Given the description of an element on the screen output the (x, y) to click on. 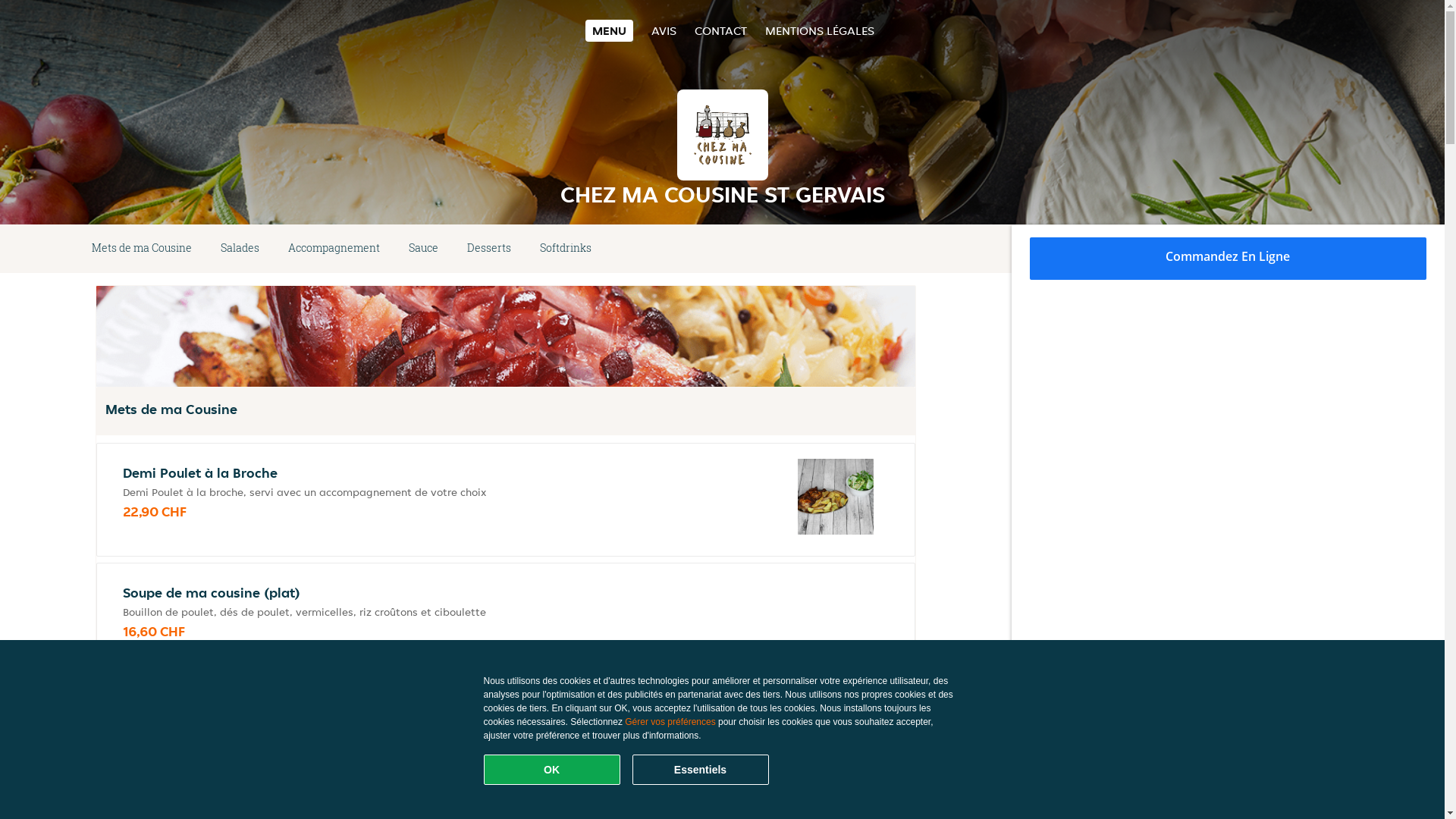
Essentiels Element type: text (700, 769)
Mets de ma Cousine Element type: text (141, 248)
Commandez En Ligne Element type: text (1228, 258)
Desserts Element type: text (488, 248)
OK Element type: text (551, 769)
CONTACT Element type: text (720, 30)
Accompagnement Element type: text (333, 248)
MENU Element type: text (609, 30)
Sauce Element type: text (423, 248)
Salades Element type: text (239, 248)
Softdrinks Element type: text (565, 248)
AVIS Element type: text (663, 30)
